Given the description of an element on the screen output the (x, y) to click on. 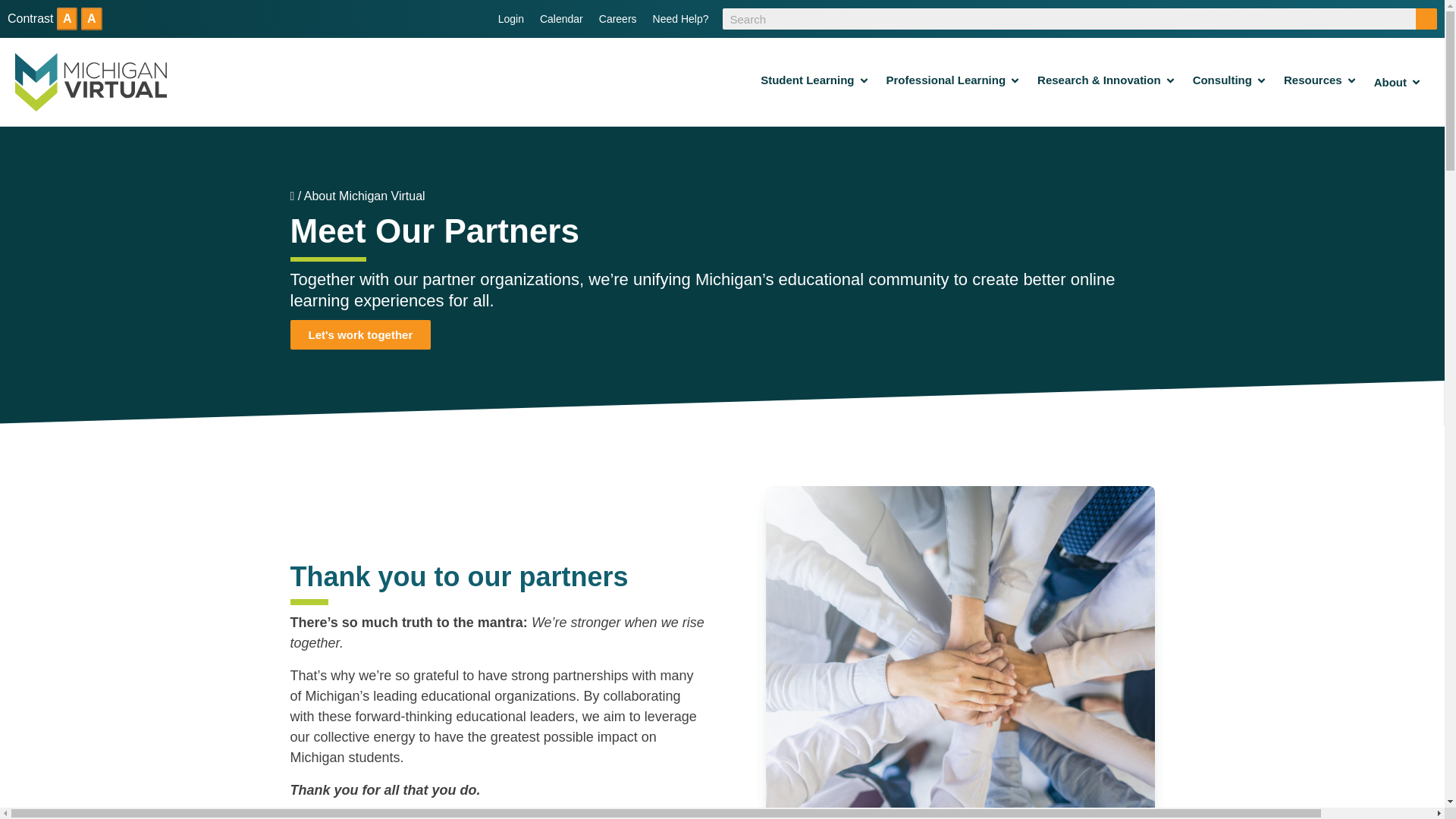
A (91, 18)
Careers (617, 18)
Search (1426, 18)
Search (1426, 18)
High Contrast (91, 18)
Login (510, 18)
Search (1426, 18)
Student Learning (806, 80)
Need Help? (680, 18)
Calendar (561, 18)
